Given the description of an element on the screen output the (x, y) to click on. 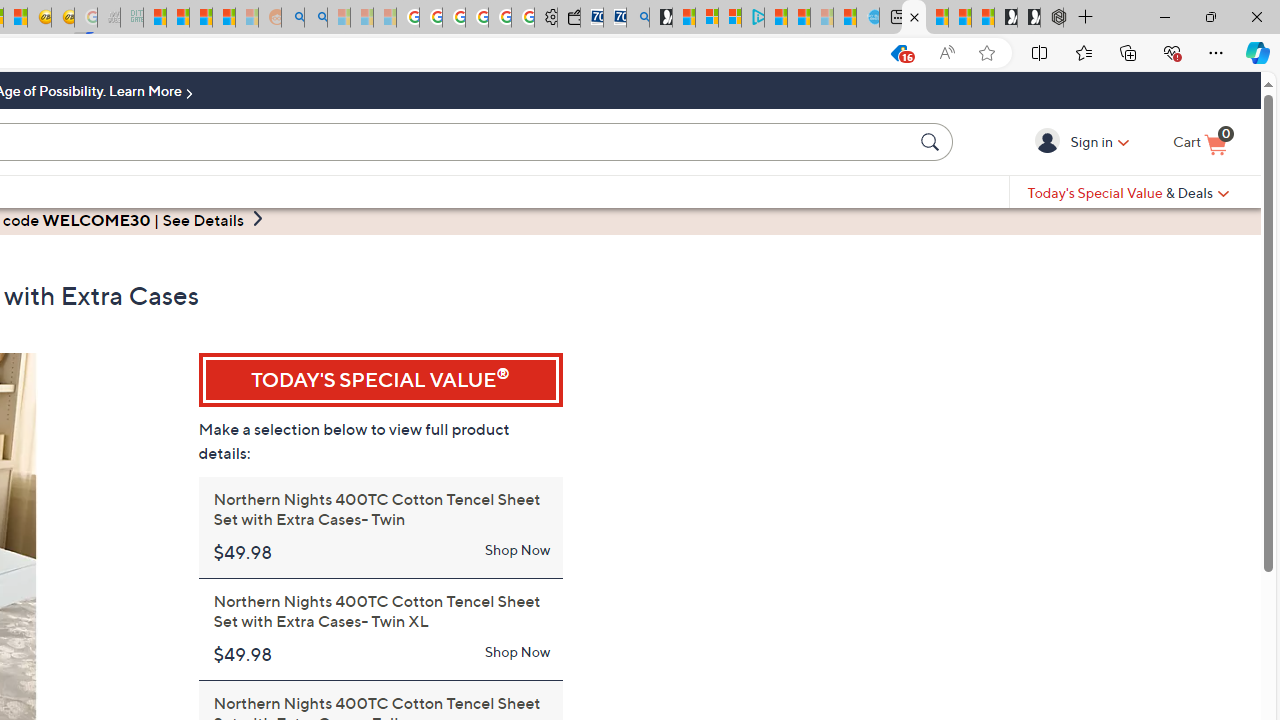
Sign in (1049, 141)
